Given the description of an element on the screen output the (x, y) to click on. 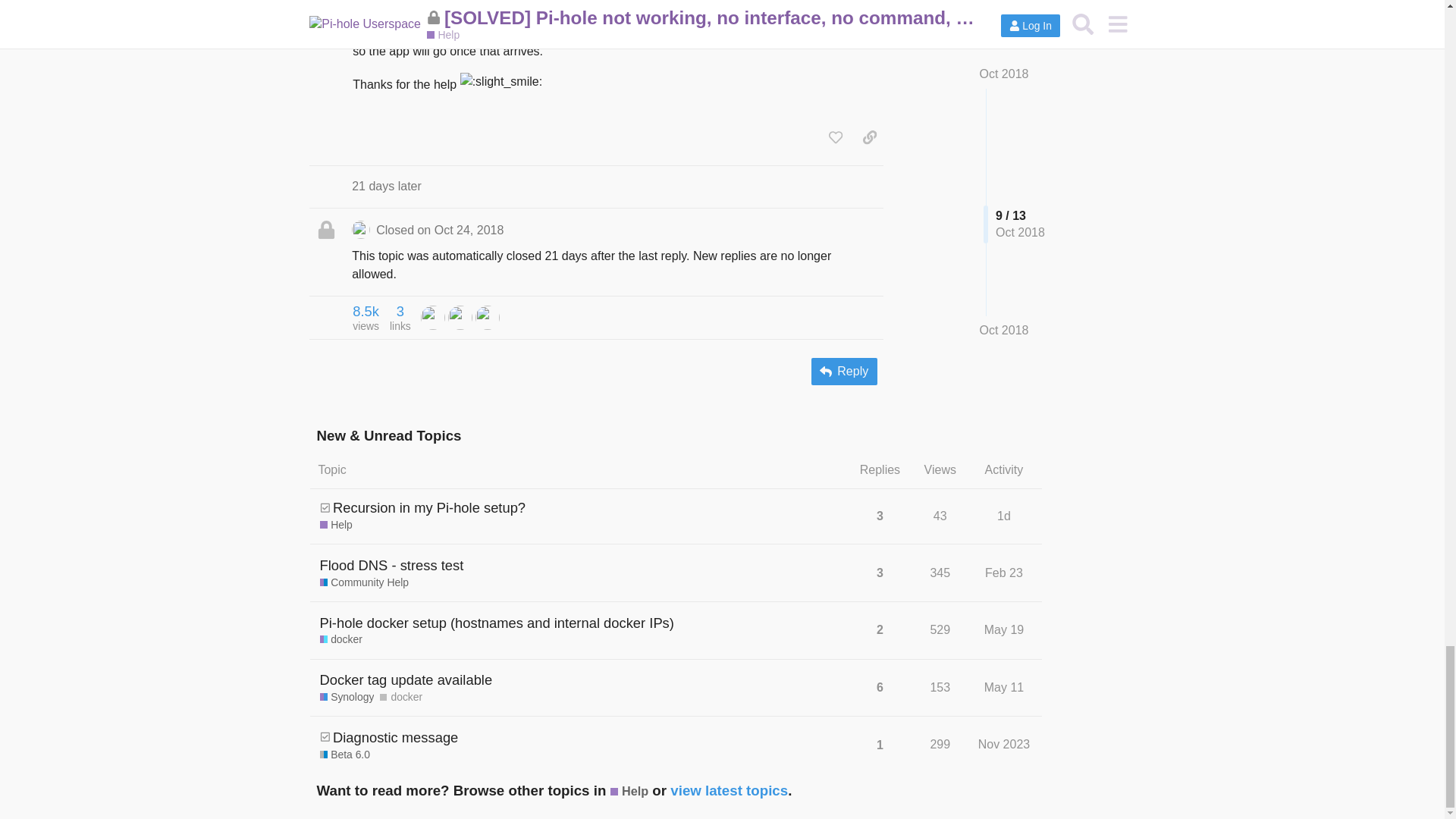
Jeroen1 (487, 316)
jfb (459, 316)
kameramandan (432, 316)
jfb (459, 317)
Dan (366, 317)
Jeroen de Boer (432, 317)
